Given the description of an element on the screen output the (x, y) to click on. 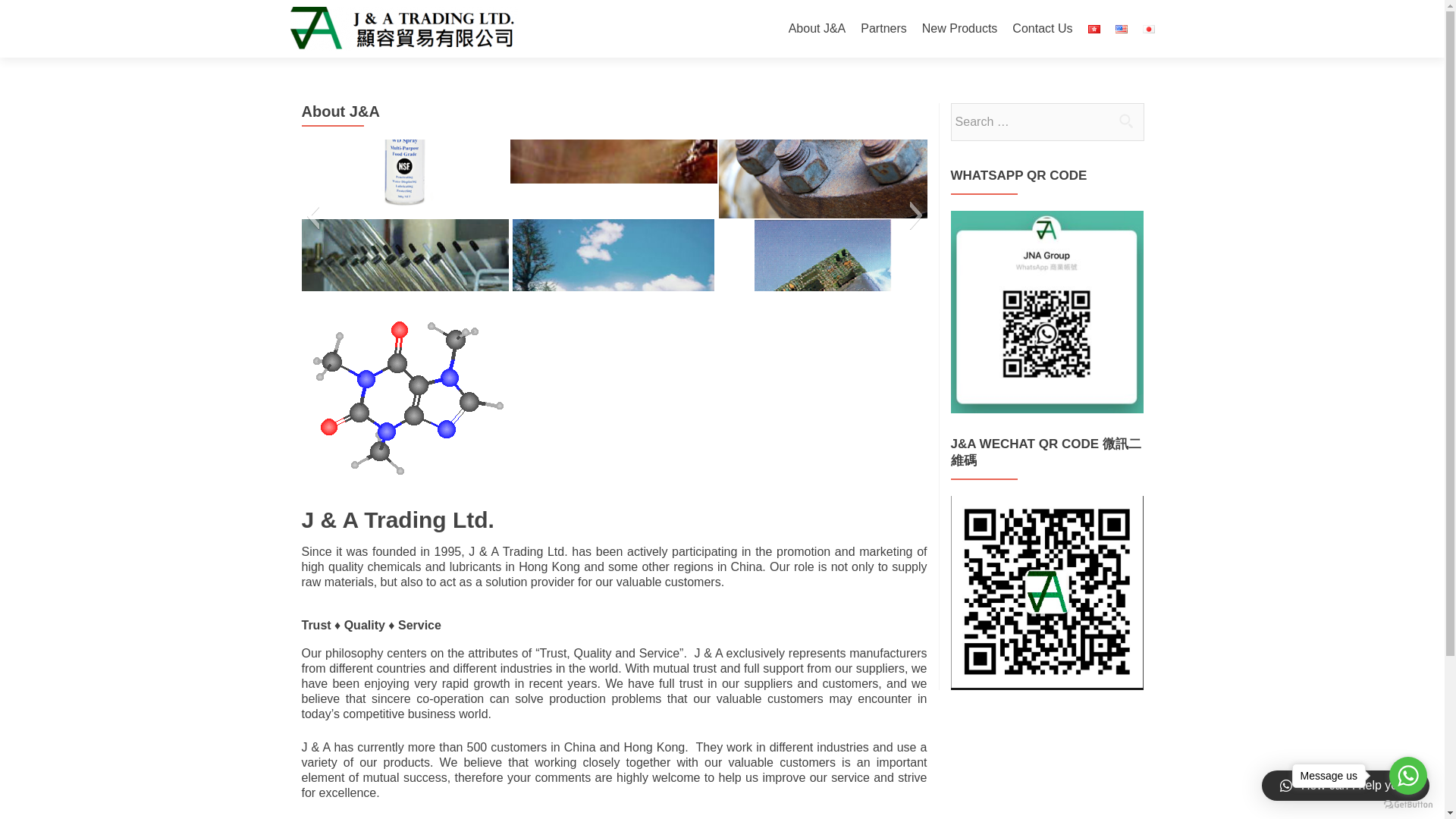
Whatsapp QR Code (1046, 311)
Contact Us (1041, 28)
Skip to content (829, 9)
Search (1125, 120)
New Products (959, 28)
Search (1125, 120)
English (1120, 29)
Partners (882, 28)
Search (1125, 120)
